Given the description of an element on the screen output the (x, y) to click on. 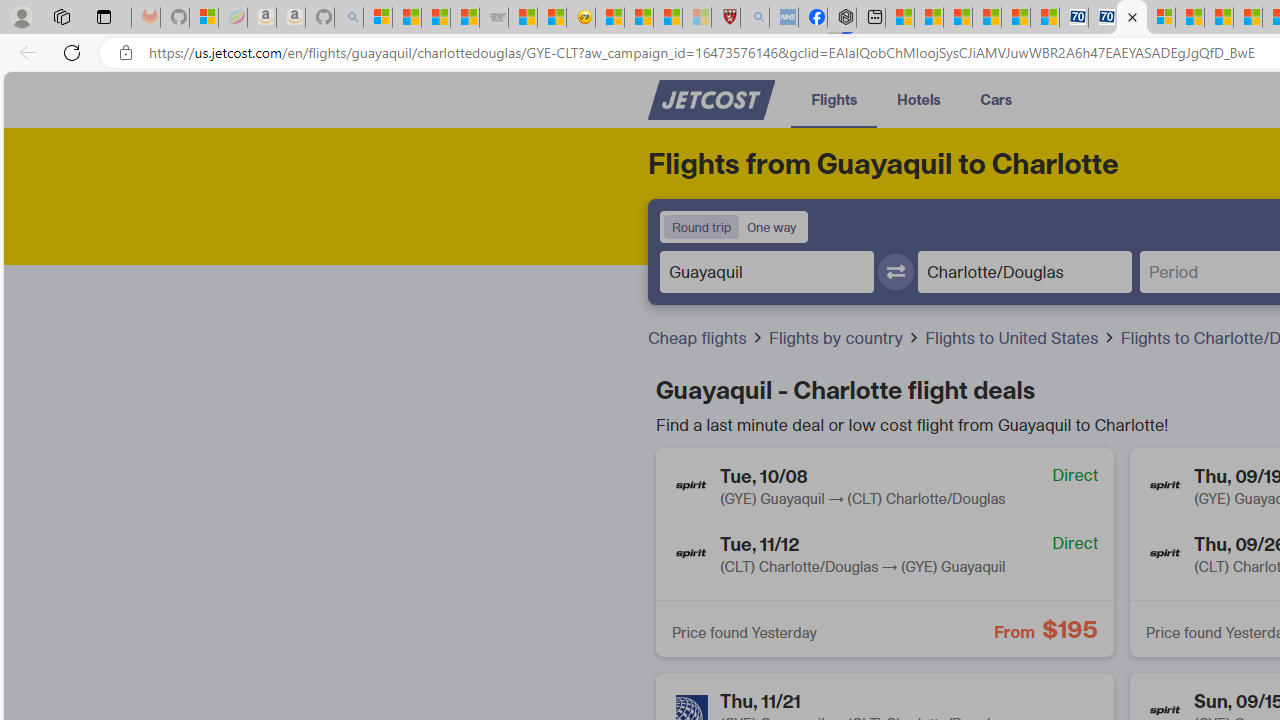
Flights (834, 98)
12 Popular Science Lies that Must be Corrected - Sleeping (696, 17)
Spirit Airlines (1165, 553)
Cheap flights (706, 337)
Cars (995, 98)
Arrival place (1024, 271)
